Given the description of an element on the screen output the (x, y) to click on. 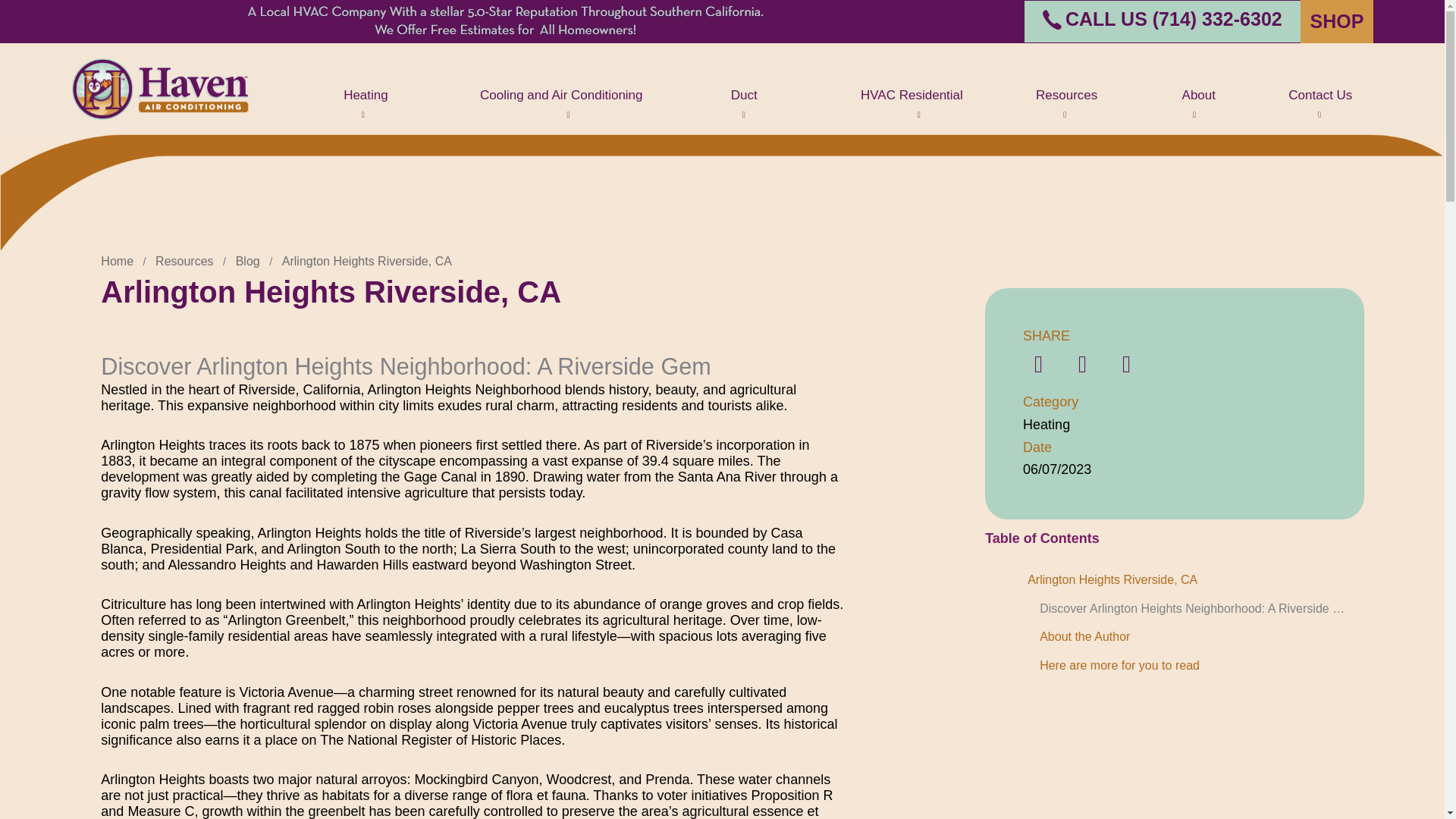
SHOP (1336, 21)
Cooling and Air Conditioning (549, 95)
HVAC Residential (892, 95)
Resources (1053, 95)
LiveChat chat widget (1412, 787)
